Given the description of an element on the screen output the (x, y) to click on. 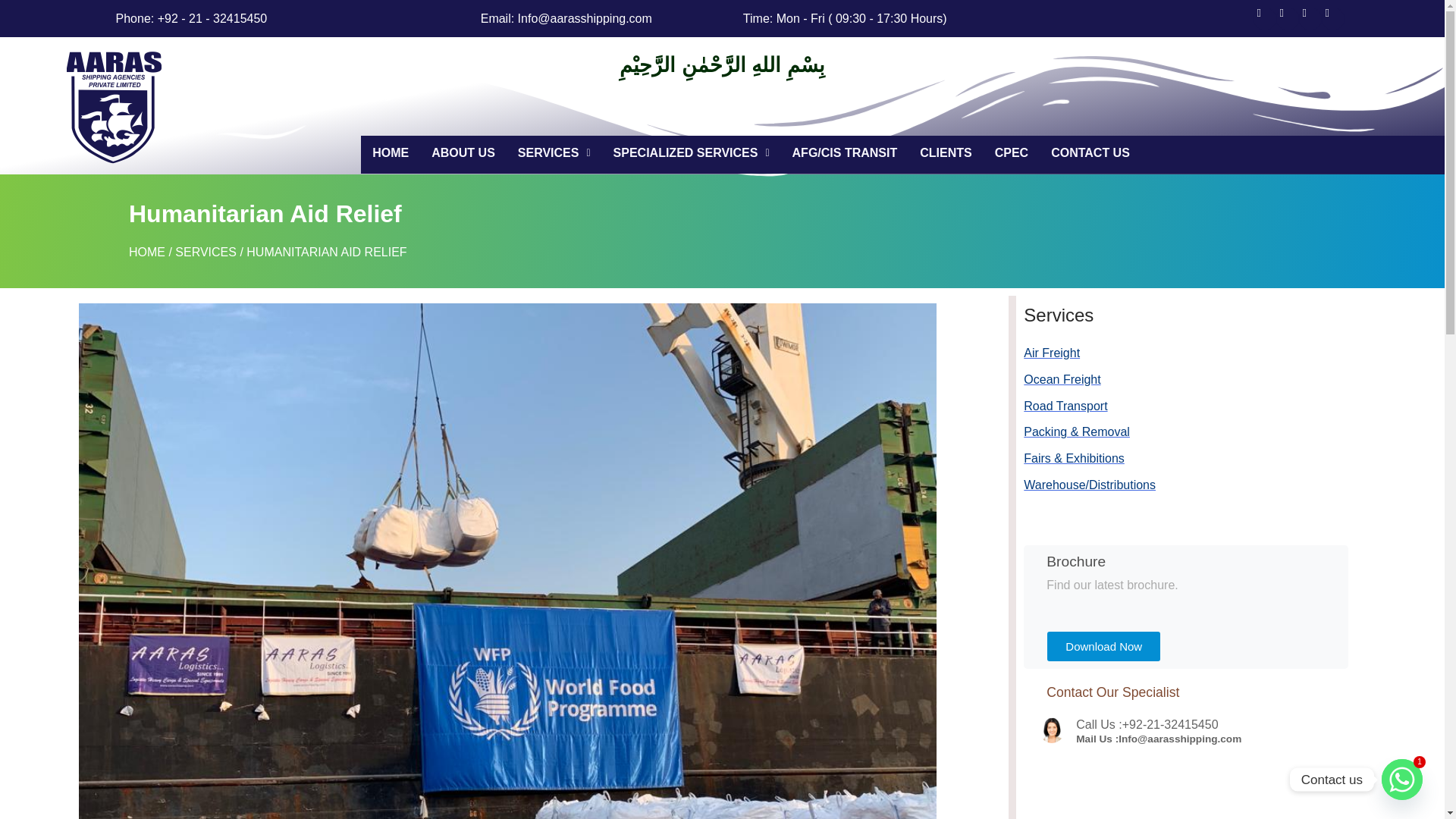
Youtube (1332, 18)
Ocean Freight (1226, 379)
Download Now (1103, 645)
Facebook (1264, 18)
CONTACT US (1090, 152)
SPECIALIZED SERVICES (691, 152)
Road Transport (1226, 405)
HOME (390, 152)
Linkedin (1310, 18)
CLIENTS (945, 152)
Instagram (1287, 18)
CPEC (1011, 152)
ABOUT US (463, 152)
Air Freight (1226, 353)
SERVICES (553, 152)
